Given the description of an element on the screen output the (x, y) to click on. 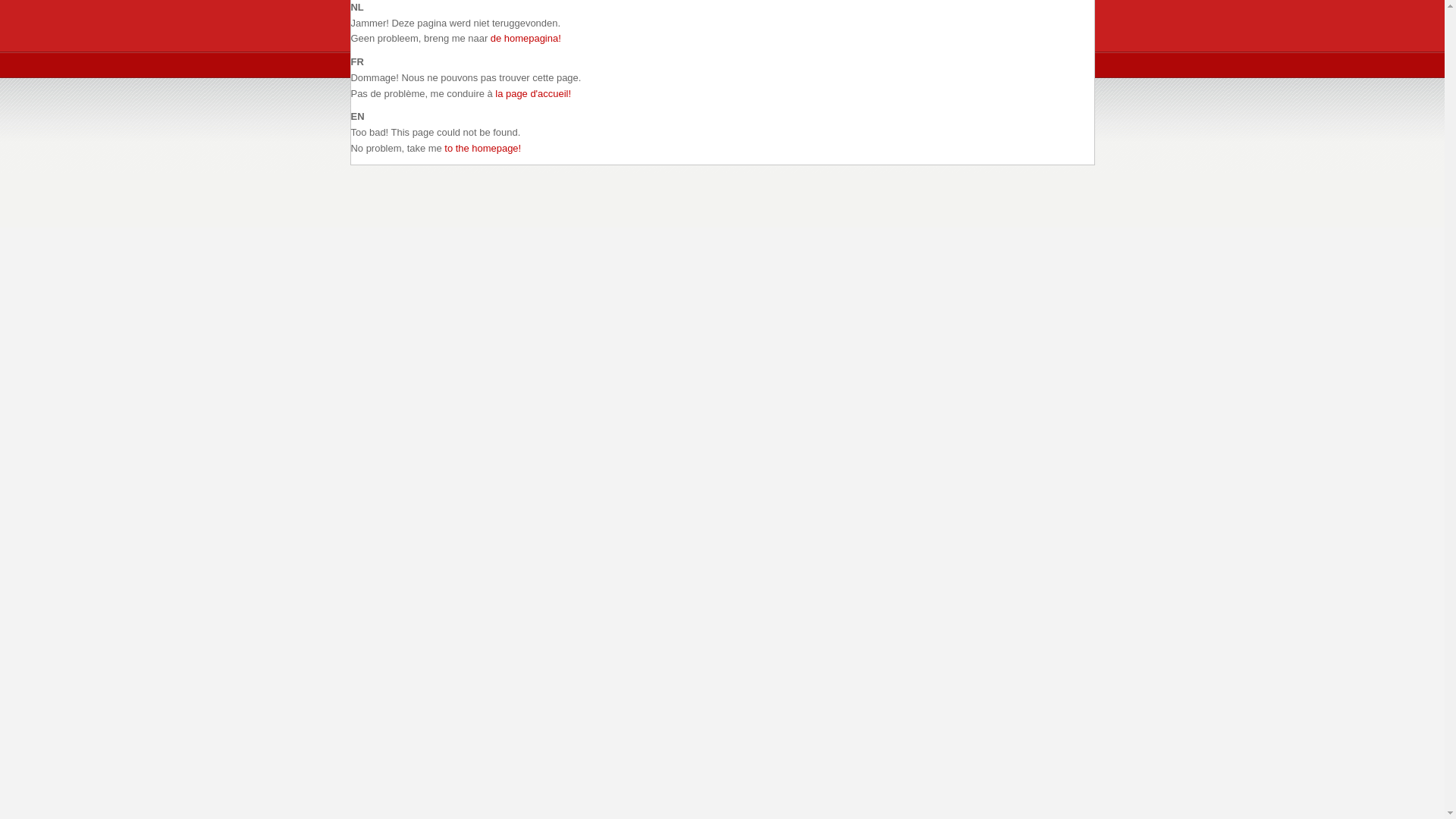
de homepagina! Element type: text (525, 37)
la page d'accueil! Element type: text (533, 93)
to the homepage! Element type: text (482, 147)
